Given the description of an element on the screen output the (x, y) to click on. 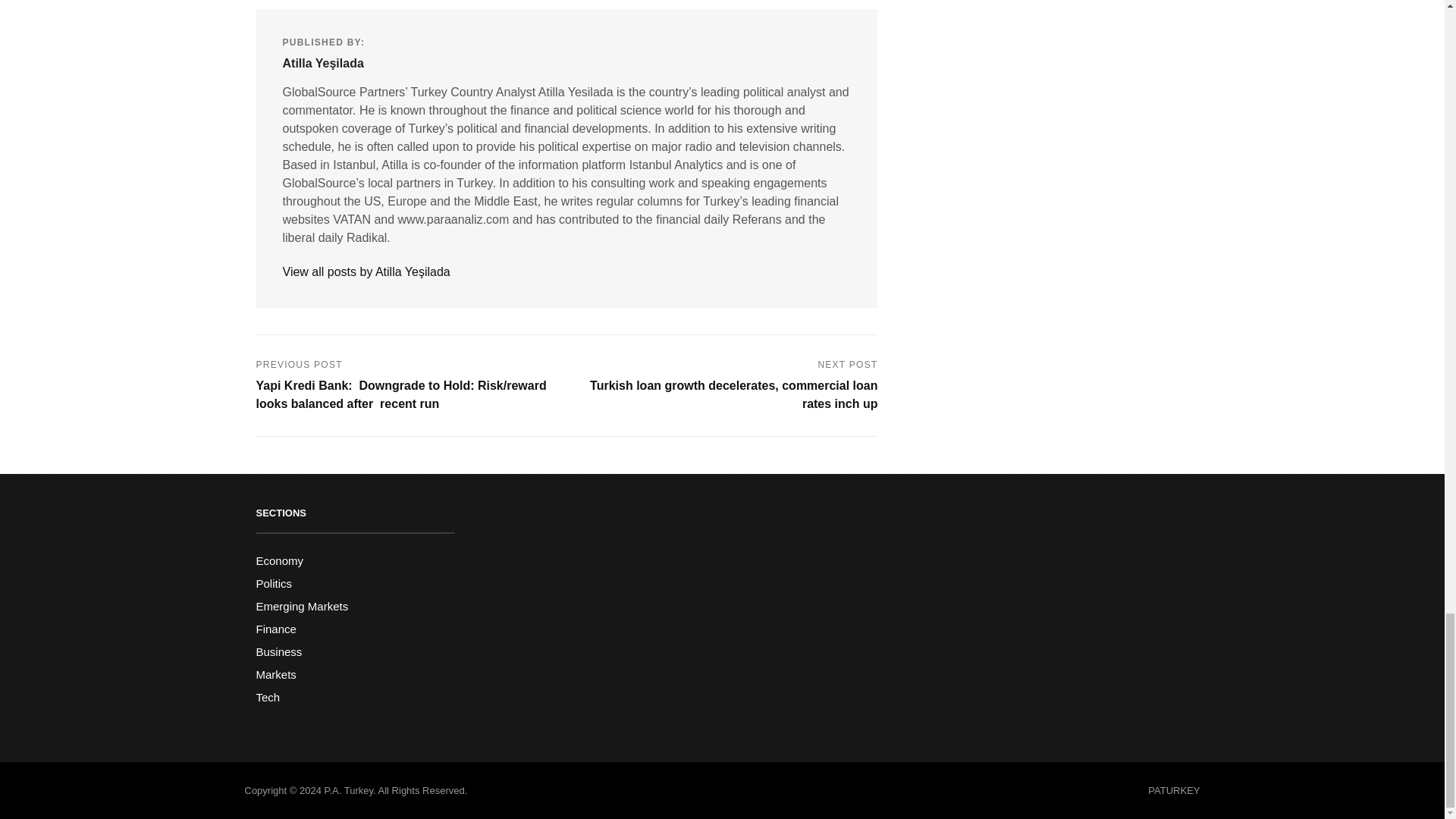
Economy (280, 560)
Emerging Markets (302, 605)
Finance (276, 628)
Politics (274, 583)
